Given the description of an element on the screen output the (x, y) to click on. 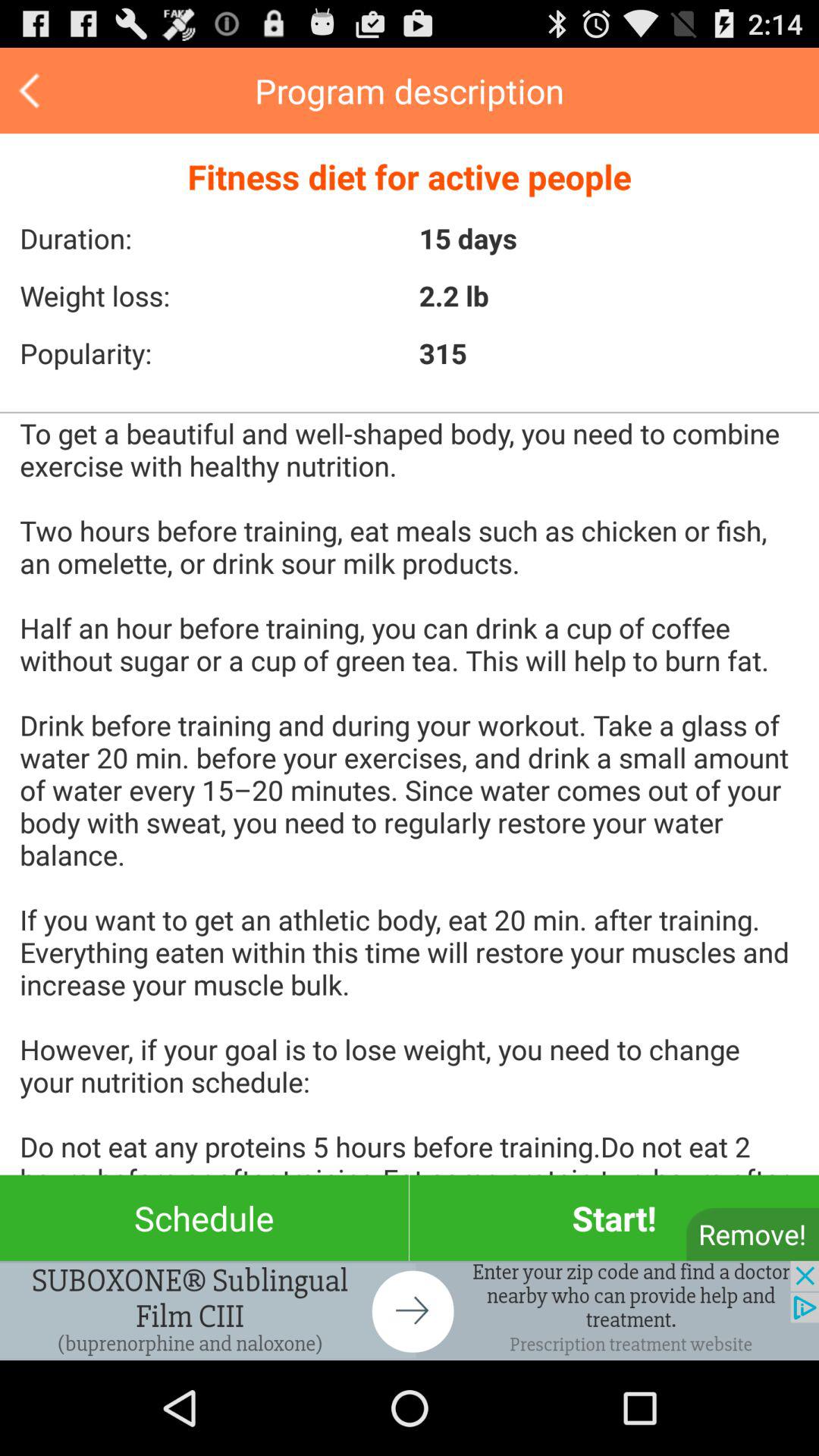
select the green text box start from bottom (614, 1217)
